Given the description of an element on the screen output the (x, y) to click on. 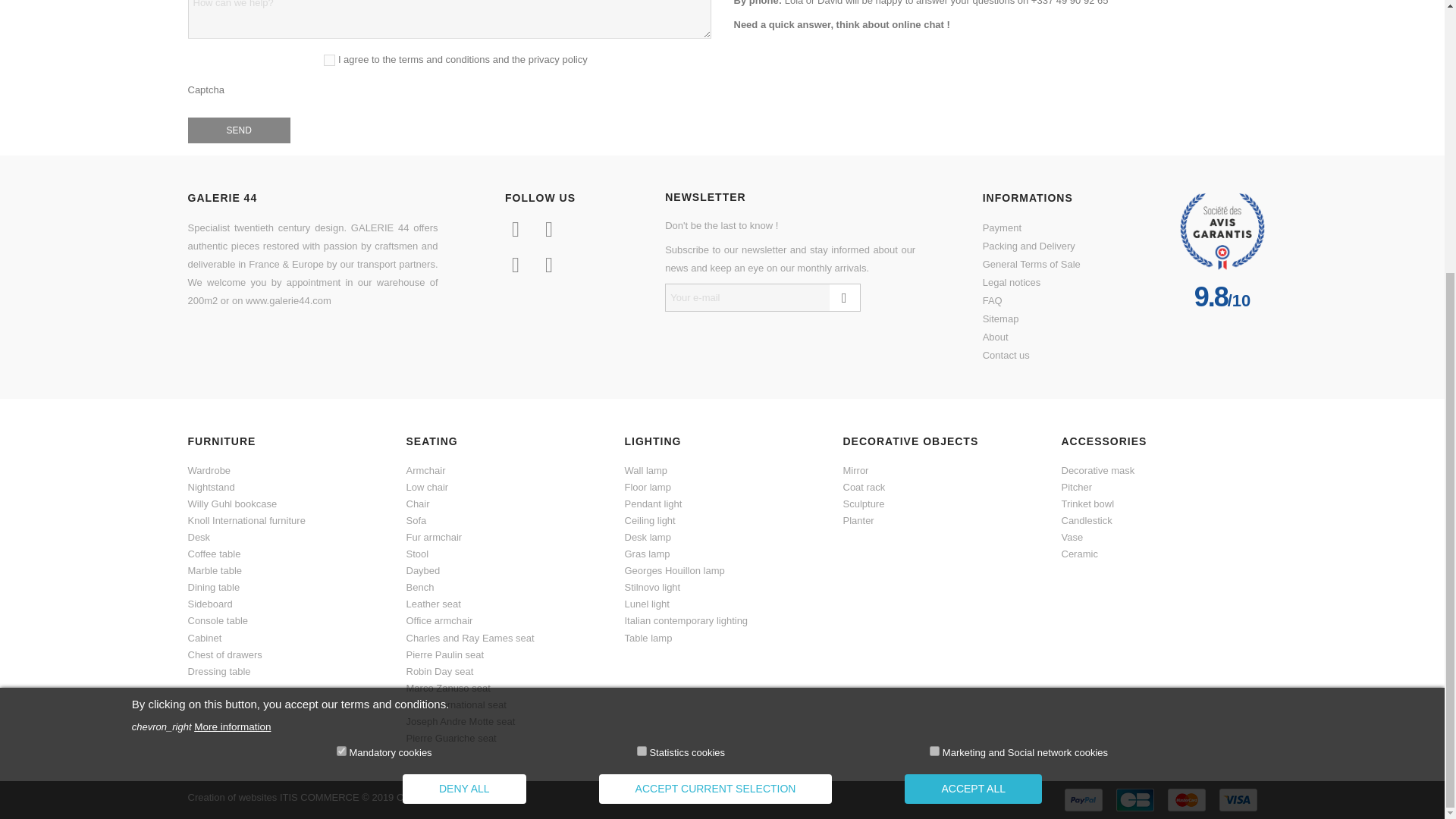
on (341, 349)
on (934, 349)
Send (238, 130)
on (641, 349)
